Given the description of an element on the screen output the (x, y) to click on. 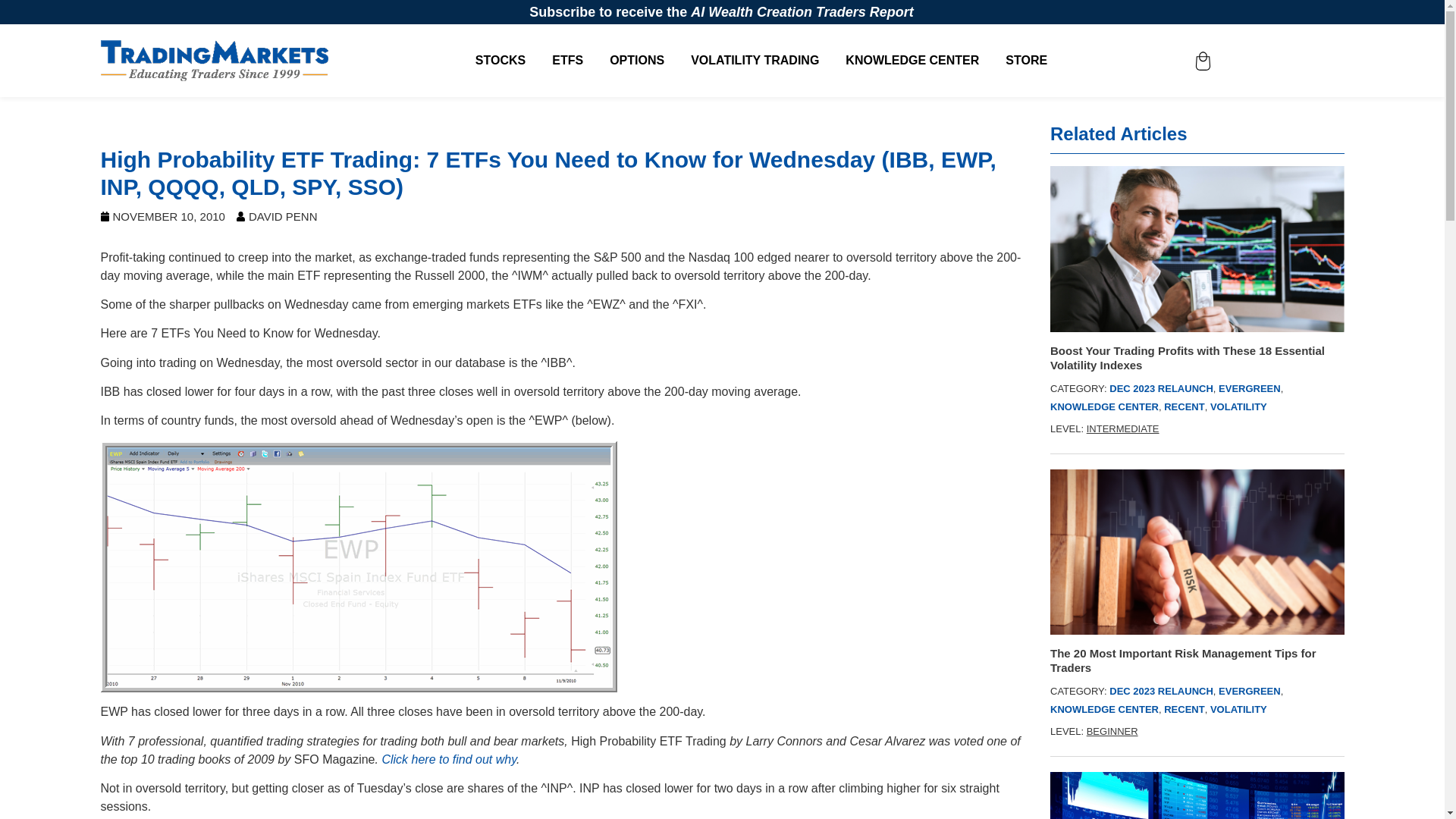
Click here to find out why (448, 758)
DEC 2023 RELAUNCH (1160, 690)
VOLATILITY TRADING (754, 60)
RECENT (1183, 406)
EVERGREEN (1249, 690)
DEC 2023 RELAUNCH (1160, 388)
The 20 Most Important Risk Management Tips for Traders (1196, 660)
EVERGREEN (1249, 388)
KNOWLEDGE CENTER (1103, 708)
KNOWLEDGE CENTER (1103, 406)
Subscribe to receive the AI Wealth Creation Traders Report (722, 11)
VOLATILITY (1237, 708)
INTERMEDIATE (1122, 428)
RECENT (1183, 708)
